Given the description of an element on the screen output the (x, y) to click on. 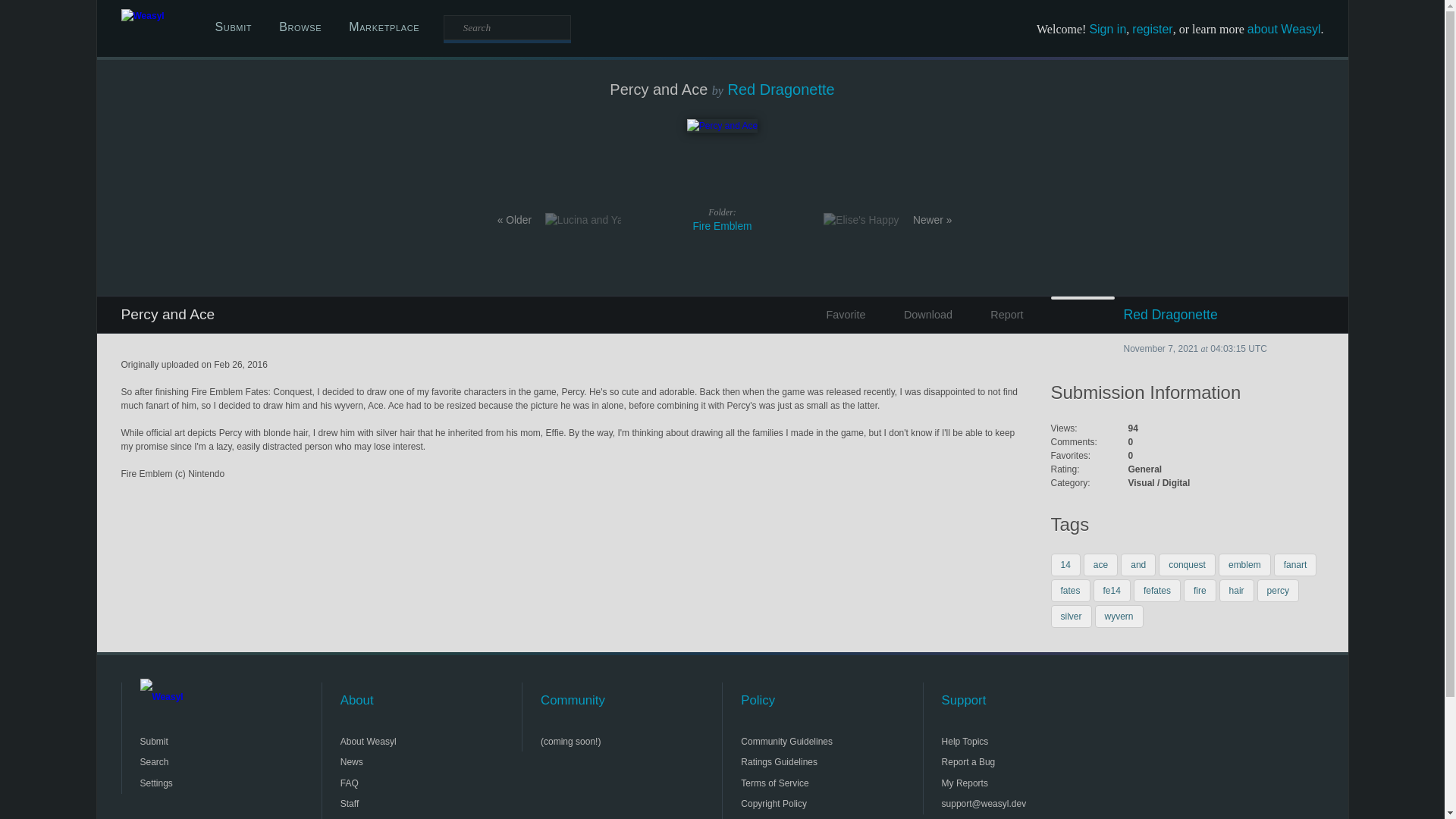
Sign in (1107, 29)
ace (1100, 564)
Red Dragonette (1187, 314)
register (1152, 29)
Browse (299, 27)
Report (993, 314)
fefates (1157, 590)
Submit (233, 27)
fanart (1295, 564)
conquest (1186, 564)
